Given the description of an element on the screen output the (x, y) to click on. 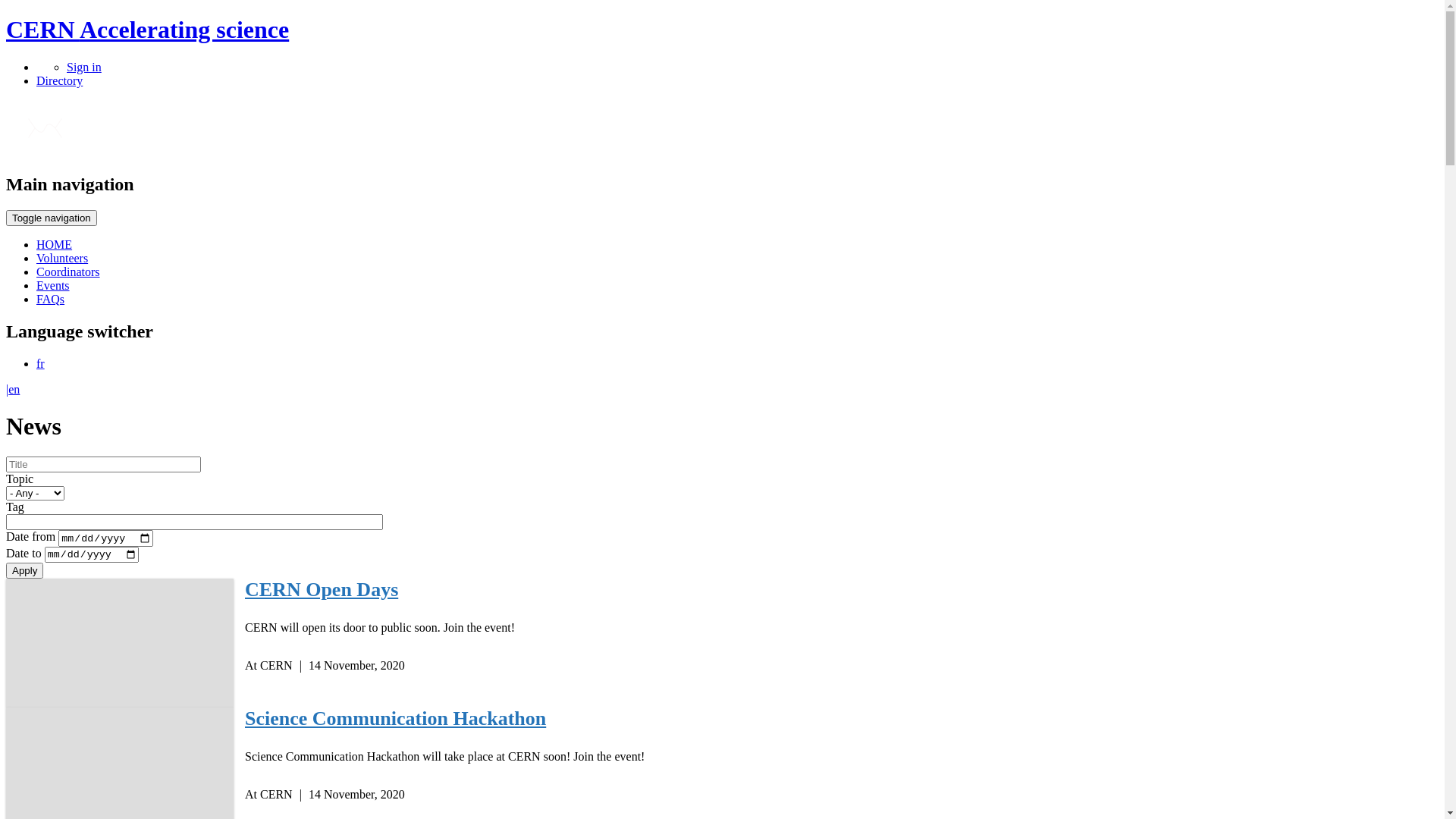
Apply Element type: text (24, 570)
Toggle navigation Element type: text (51, 217)
Volunteers Element type: text (61, 257)
Events Element type: text (52, 285)
CERN Open Days Element type: text (321, 589)
Sign in Element type: text (83, 66)
Directory Element type: text (59, 80)
Skip to main content Element type: text (6, 15)
CERN Accelerating science Element type: text (147, 29)
|en Element type: text (12, 388)
Science Communication Hackathon Element type: text (395, 718)
FAQs Element type: text (50, 298)
fr Element type: text (40, 362)
HOME Element type: text (54, 244)
Home Element type: hover (45, 151)
Coordinators Element type: text (68, 271)
